Given the description of an element on the screen output the (x, y) to click on. 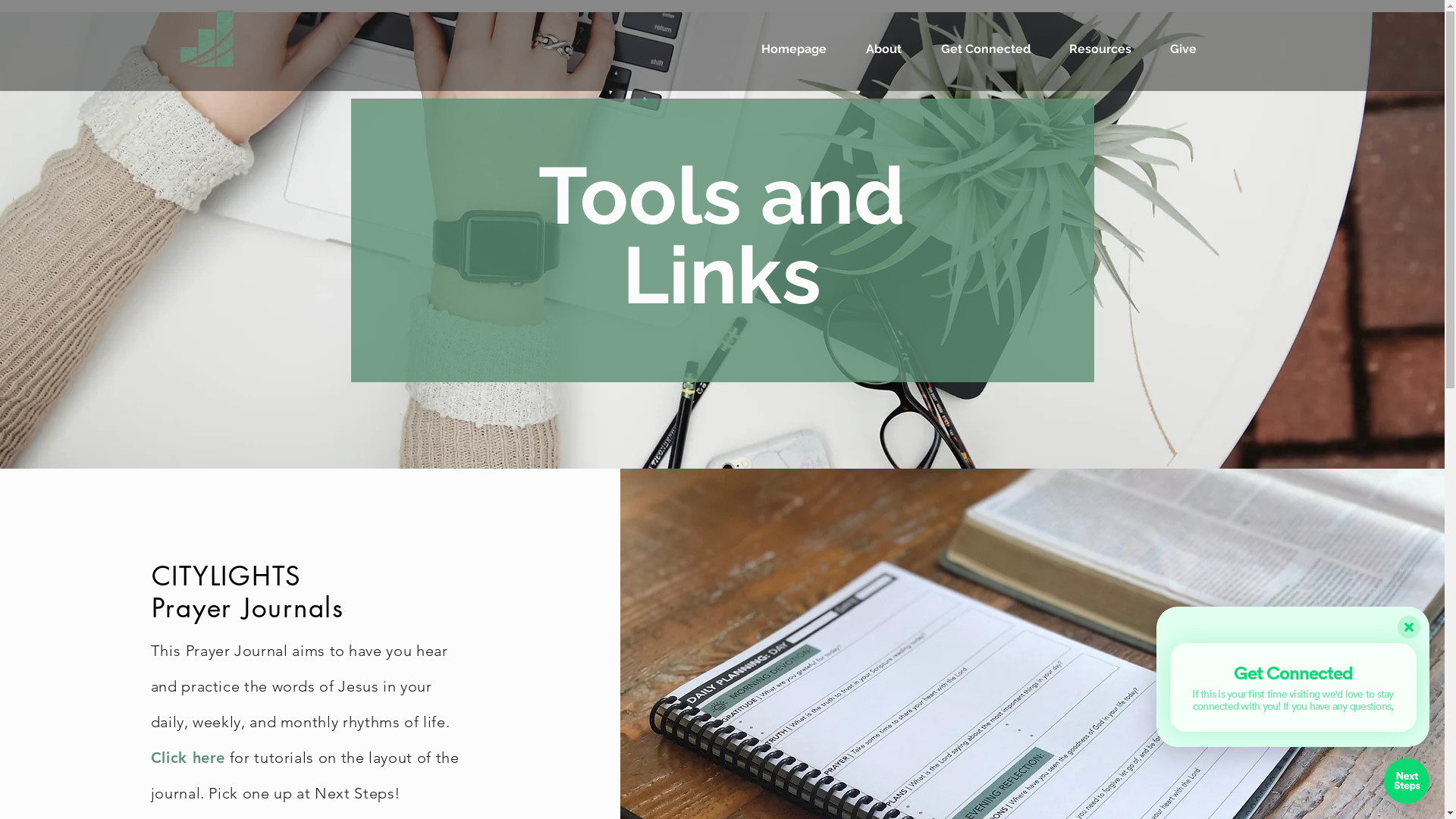
Homepage Element type: text (793, 48)
Click here Element type: text (187, 757)
Give Element type: text (1183, 48)
